Given the description of an element on the screen output the (x, y) to click on. 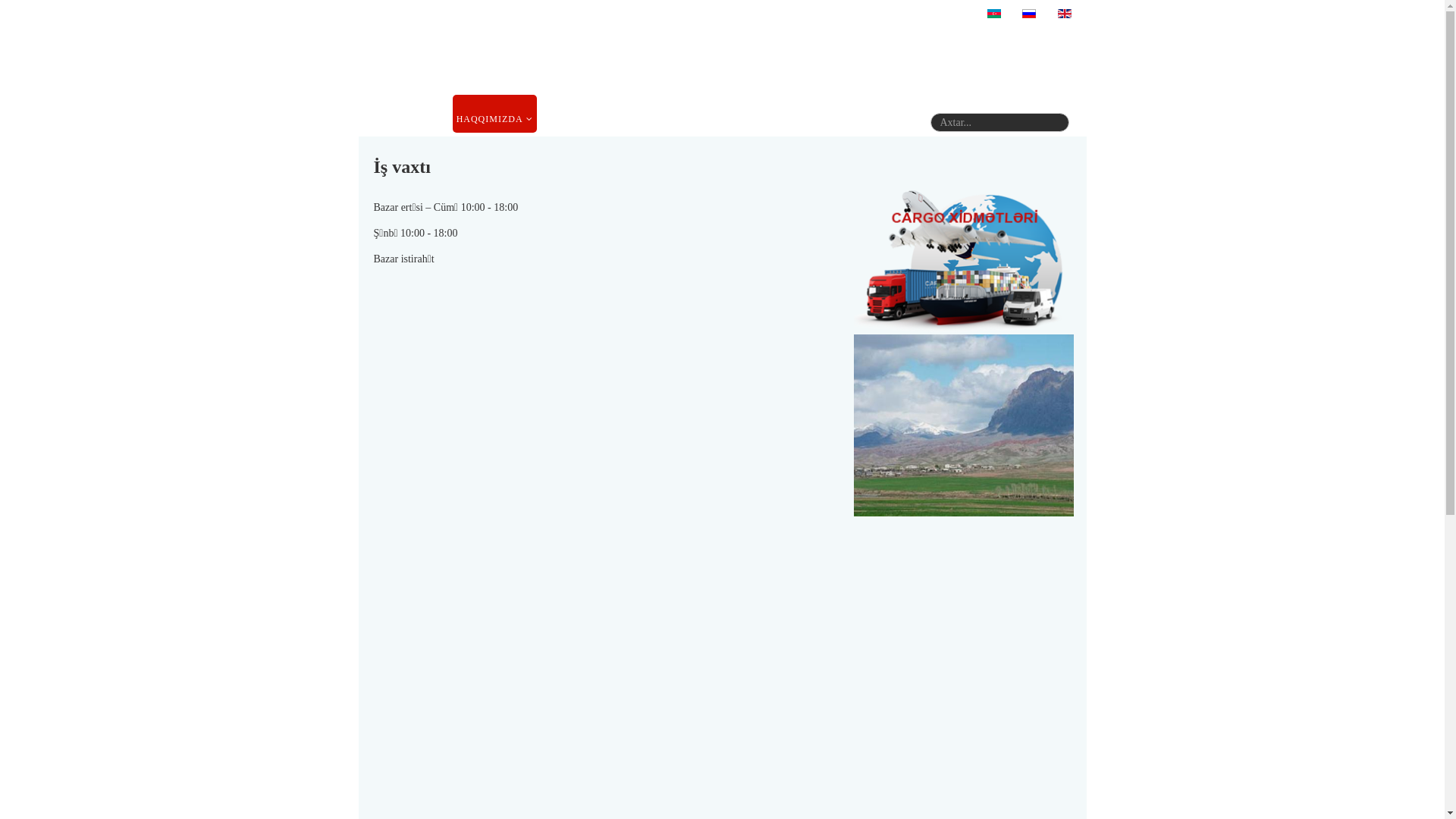
English (United Kingdom) Element type: hover (1063, 13)
TURLAR Element type: text (752, 113)
HAQQIMIZDA Element type: text (494, 113)
Russian (Russia) Element type: hover (1028, 13)
CARGO Element type: text (635, 113)
Azerbaijan (az-AZ) Element type: hover (994, 13)
FAYDALI Element type: text (692, 113)
